Given the description of an element on the screen output the (x, y) to click on. 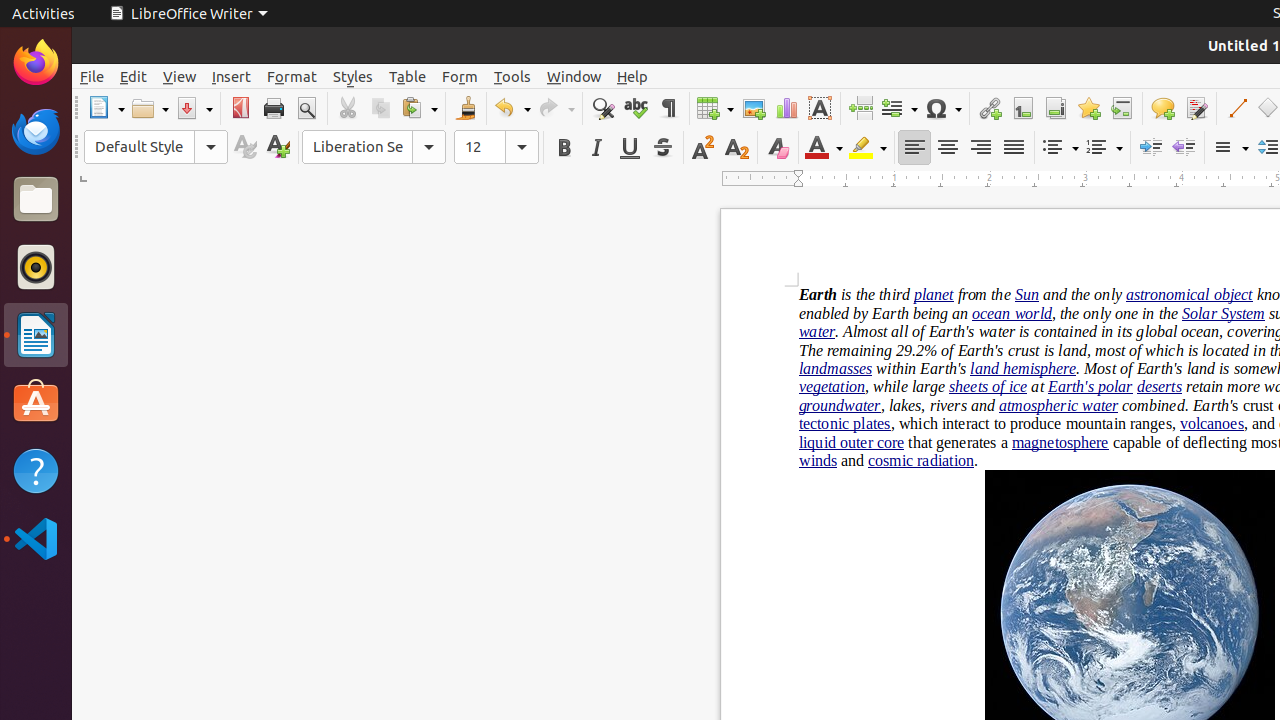
Rhythmbox Element type: push-button (36, 267)
Firefox Web Browser Element type: push-button (36, 63)
Ubuntu Software Element type: push-button (36, 402)
Help Element type: push-button (36, 470)
Thunderbird Mail Element type: push-button (36, 131)
